Given the description of an element on the screen output the (x, y) to click on. 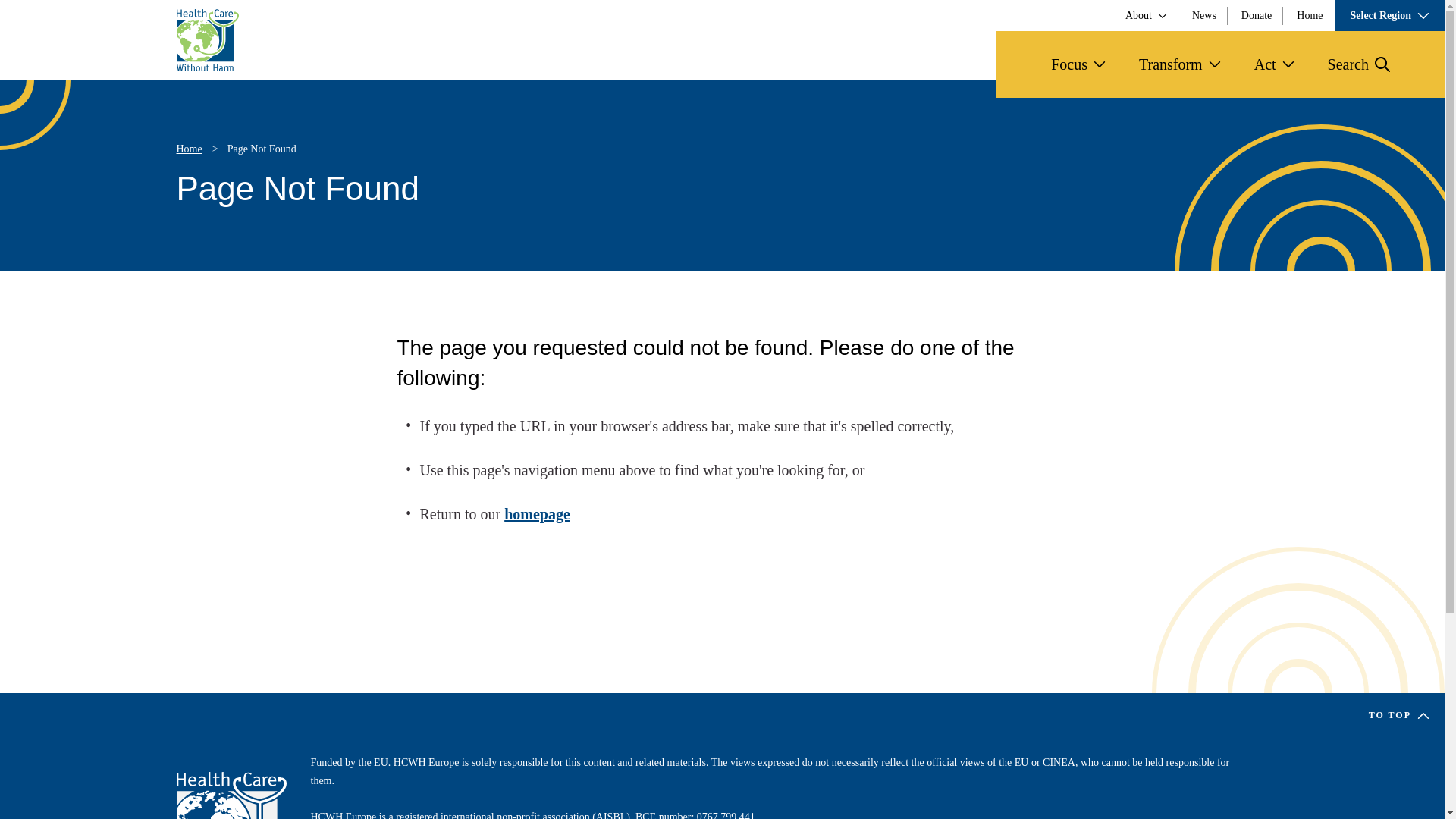
Home (207, 40)
News (1203, 15)
Home (1309, 15)
Home (230, 795)
Skip to main content (60, 13)
Transform (1179, 64)
Donate (1256, 15)
About (1146, 15)
